Given the description of an element on the screen output the (x, y) to click on. 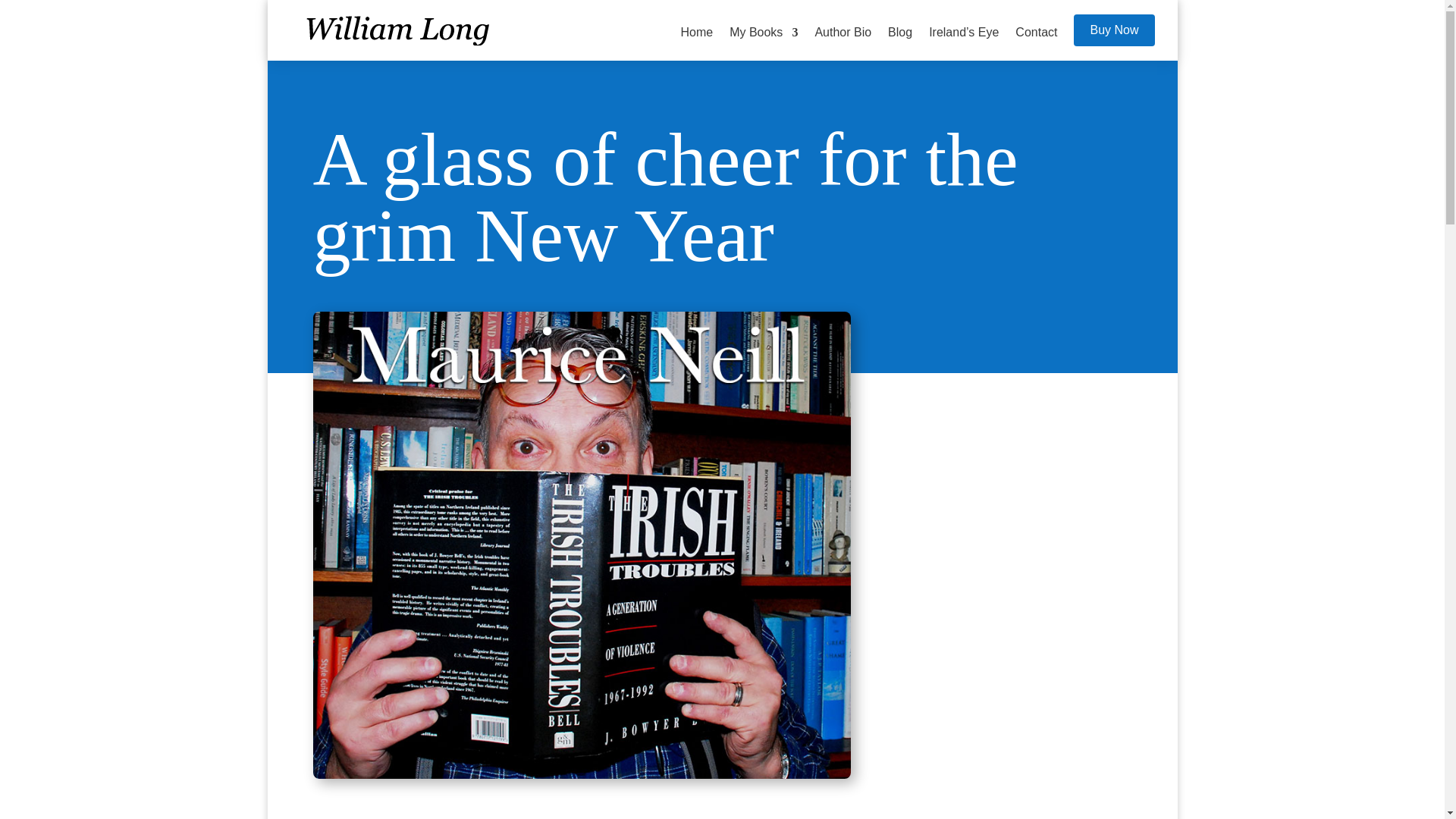
Home (696, 43)
Buy Now (1114, 29)
Contact (1035, 43)
Author Bio (841, 43)
flexile-black-logo (402, 30)
My Books (763, 43)
